Given the description of an element on the screen output the (x, y) to click on. 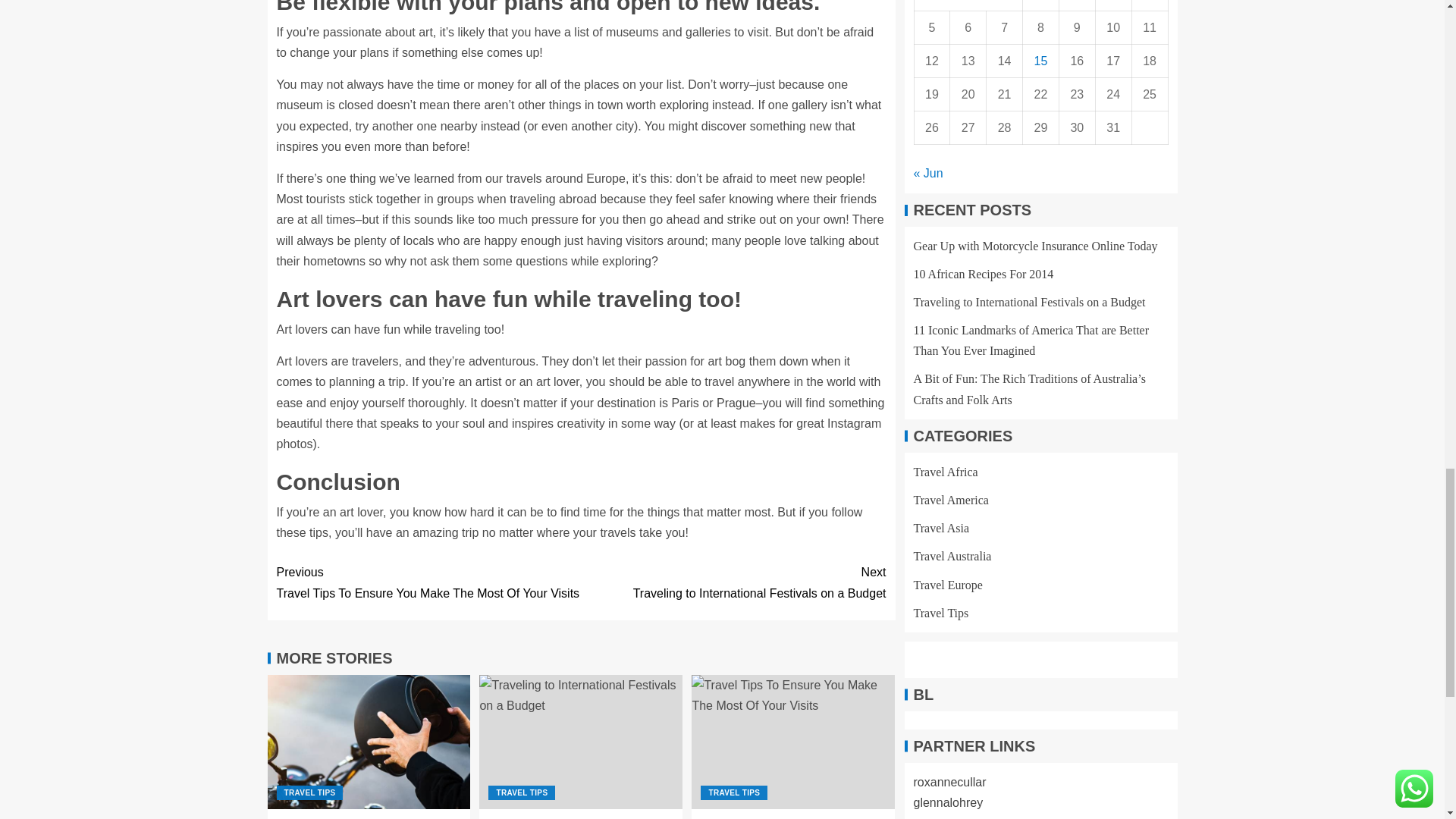
TRAVEL TIPS (309, 792)
Traveling to International Festivals on a Budget (580, 741)
Travel Tips To Ensure You Make The Most Of Your Visits (793, 741)
Gear Up with Motorcycle Insurance Online Today (732, 581)
